Given the description of an element on the screen output the (x, y) to click on. 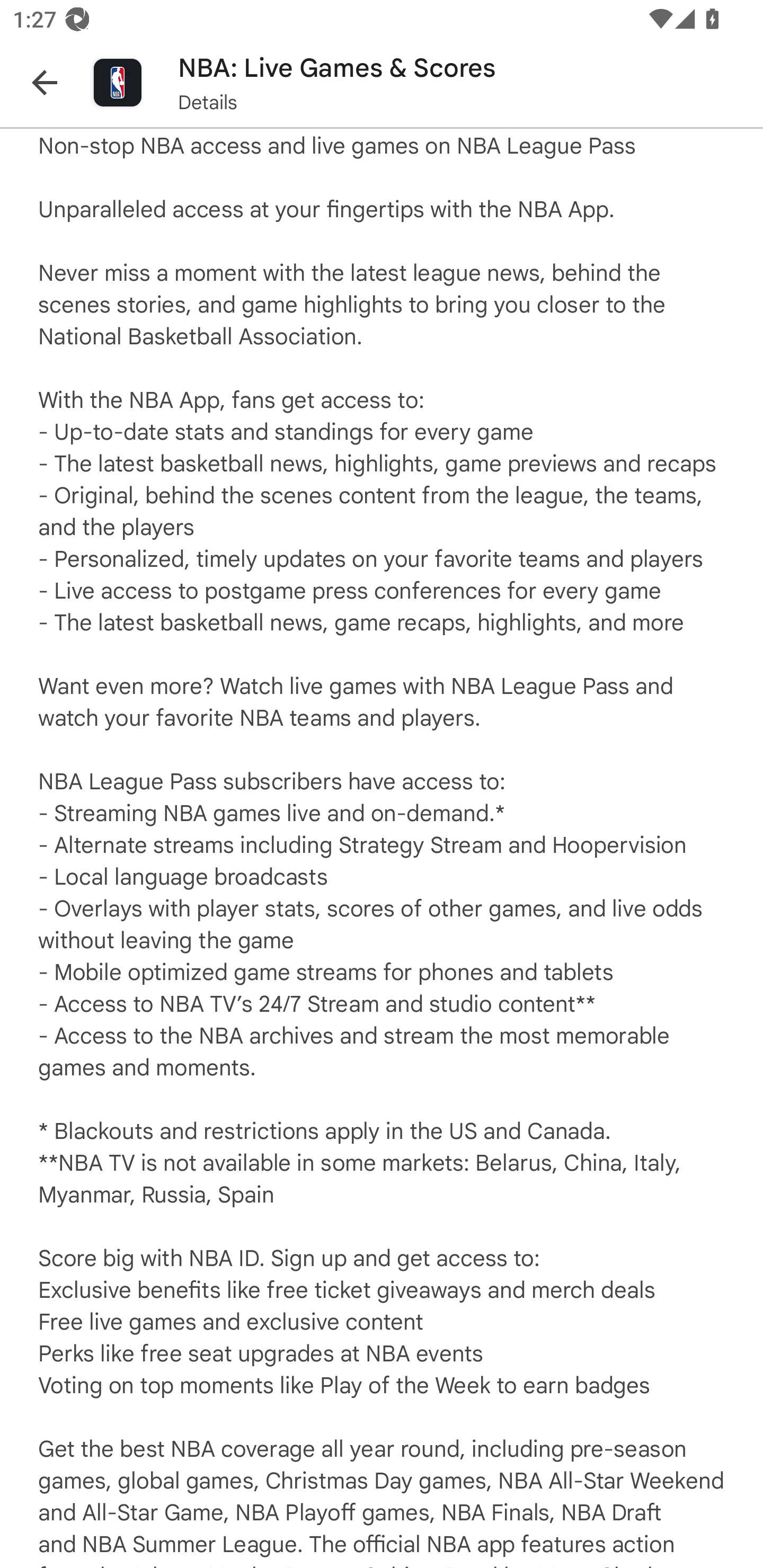
Navigate up (44, 82)
